Given the description of an element on the screen output the (x, y) to click on. 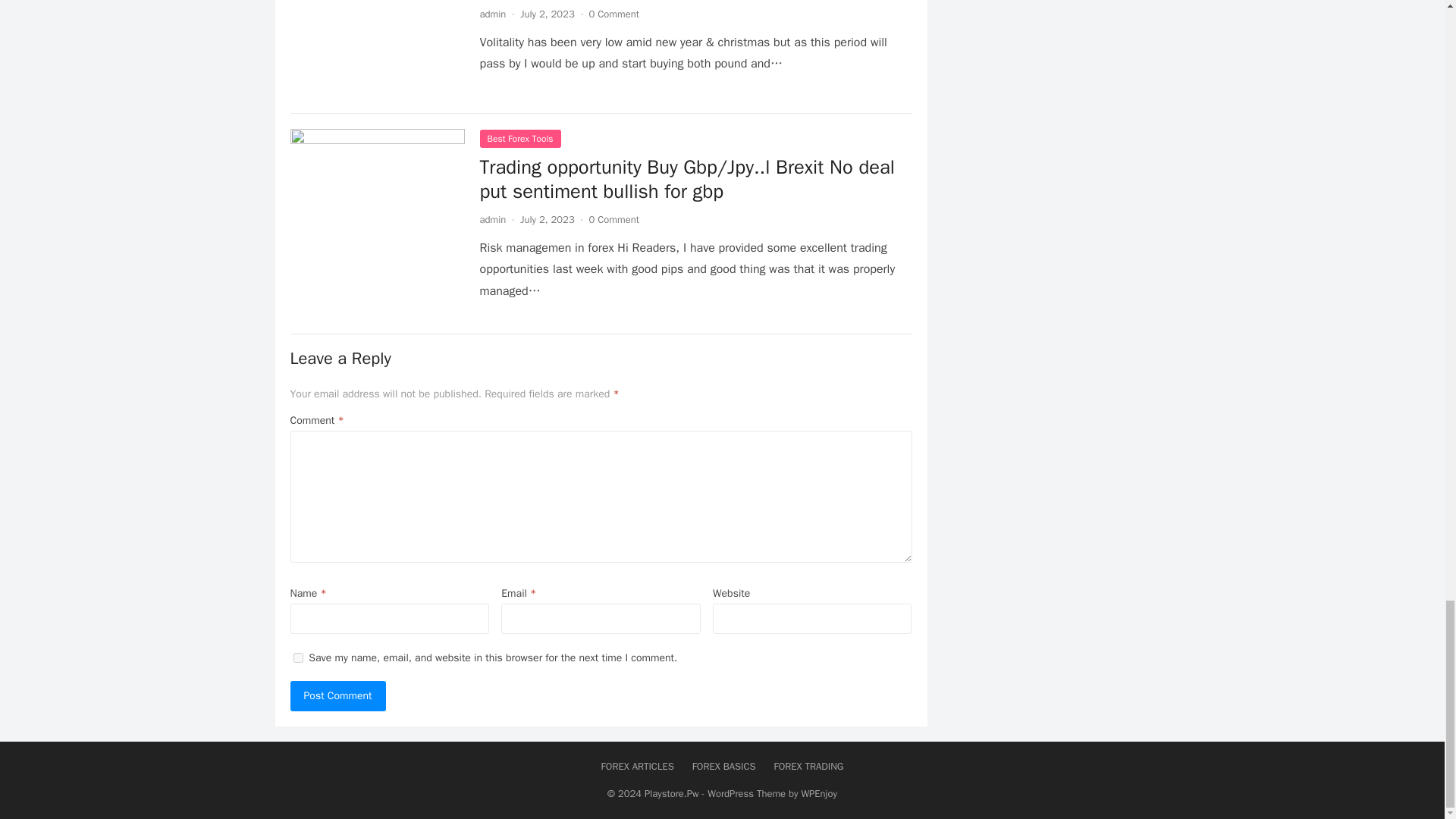
Posts by admin (492, 13)
Posts by admin (492, 219)
yes (297, 657)
Post Comment (337, 695)
